Given the description of an element on the screen output the (x, y) to click on. 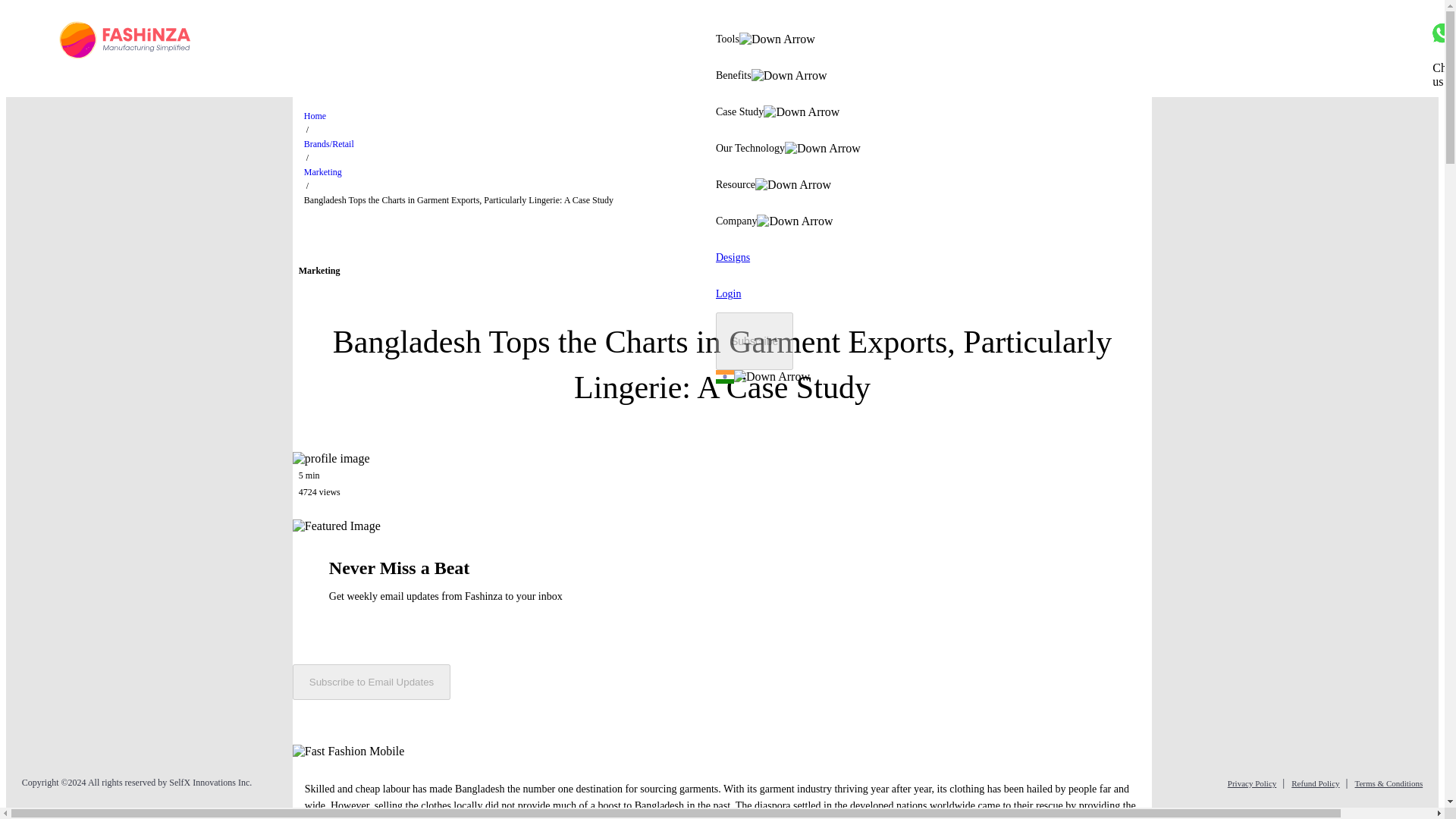
Marketing (323, 172)
Designs (732, 257)
Subscribe (754, 341)
Subscribe to Email Updates (370, 682)
Home (315, 115)
